Given the description of an element on the screen output the (x, y) to click on. 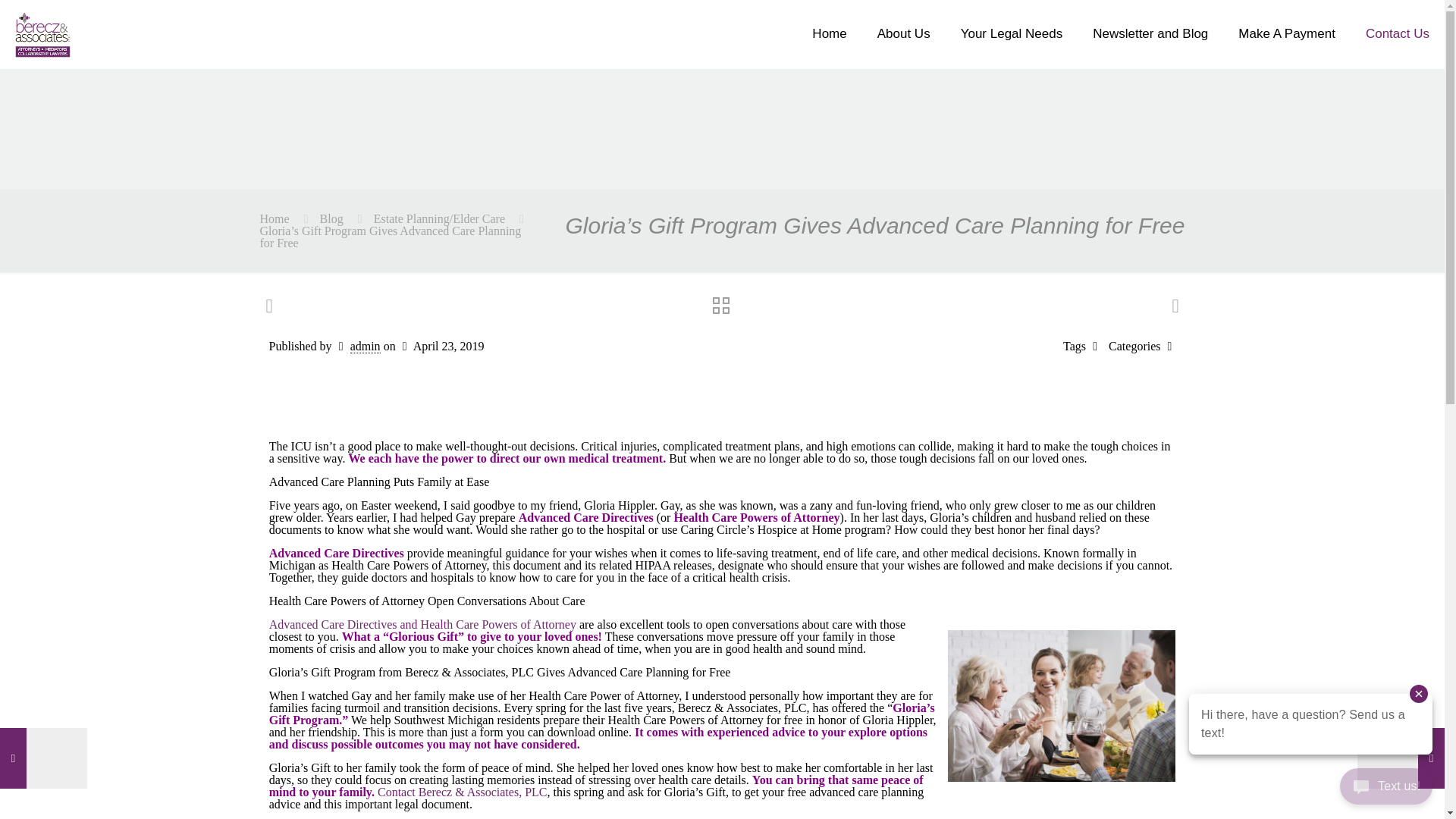
About Us (902, 33)
Your Legal Needs (1011, 33)
admin (365, 345)
Newsletter and Blog (1150, 33)
Make A Payment (1287, 33)
Home (828, 33)
Blog (331, 218)
Advanced Care Directives and Health Care Powers of Attorney (422, 624)
Home (273, 218)
